Given the description of an element on the screen output the (x, y) to click on. 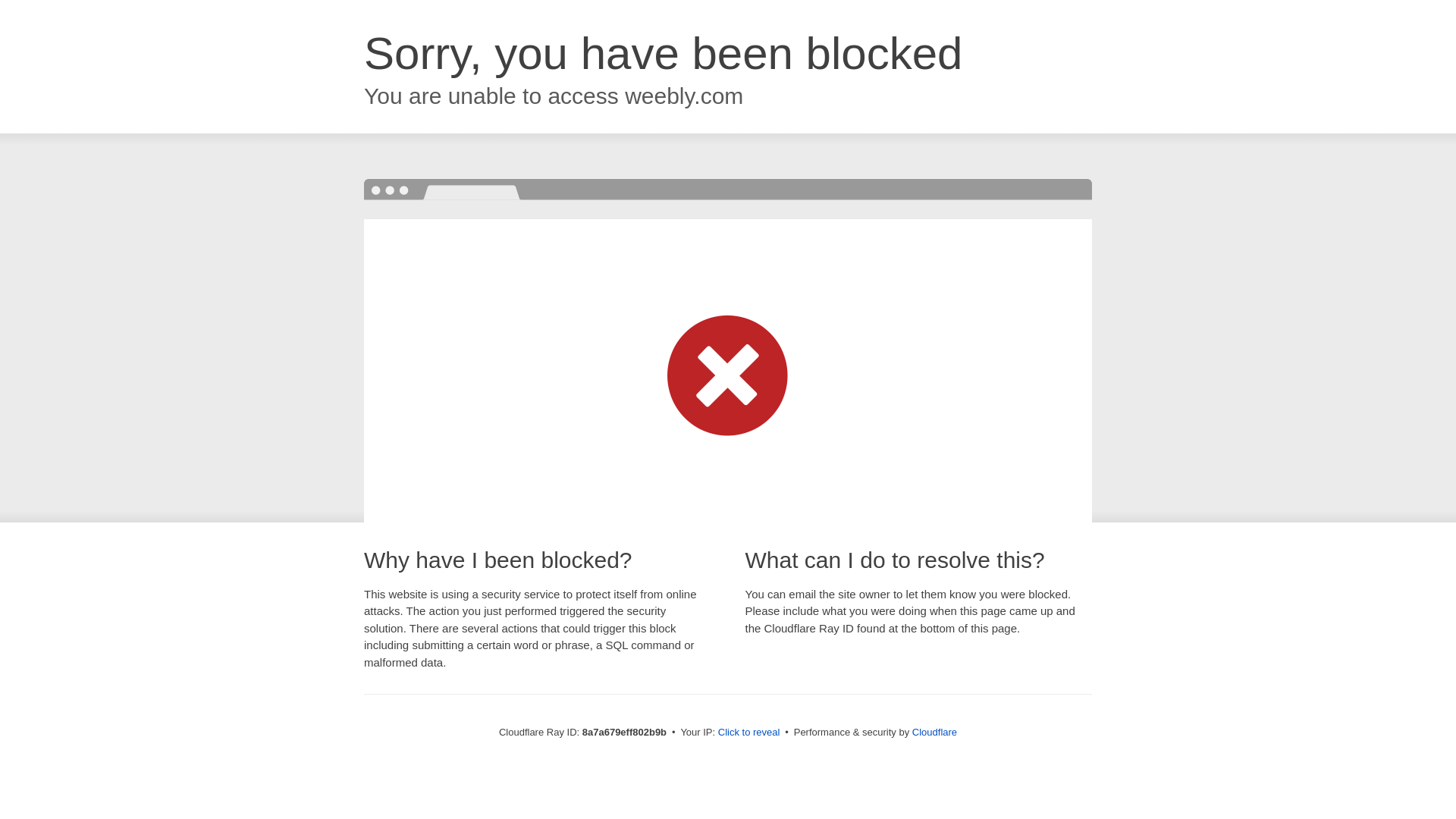
Click to reveal (748, 732)
Cloudflare (934, 731)
